Given the description of an element on the screen output the (x, y) to click on. 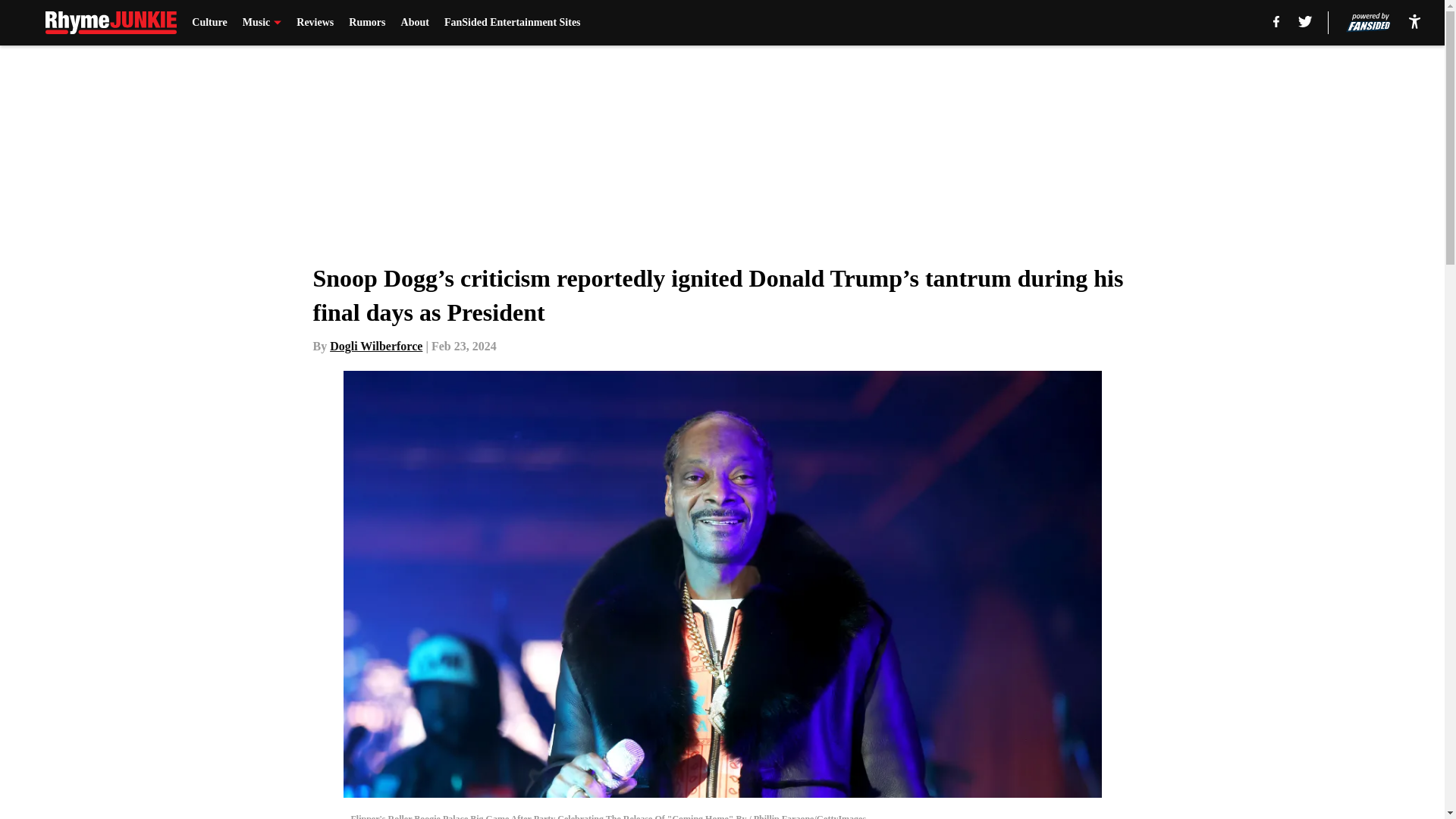
About (415, 22)
Culture (209, 22)
Dogli Wilberforce (376, 345)
Reviews (315, 22)
Rumors (367, 22)
FanSided Entertainment Sites (512, 22)
